Given the description of an element on the screen output the (x, y) to click on. 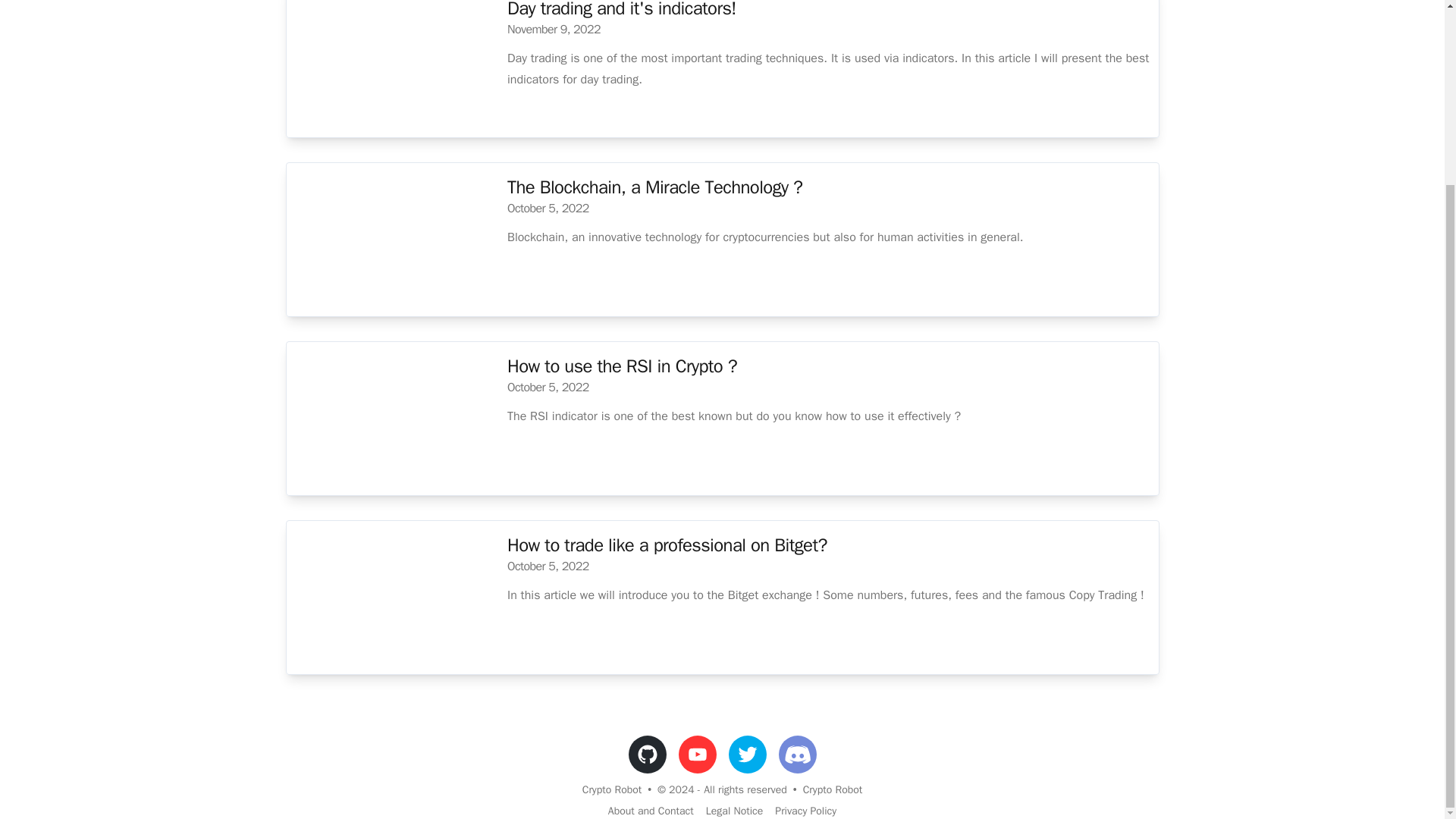
The Blockchain, a Miracle Technology ? (658, 187)
How to trade like a professional on Bitget? (670, 544)
Day trading and it's indicators! (625, 9)
How to use the RSI in Crypto ? (625, 365)
